Given the description of an element on the screen output the (x, y) to click on. 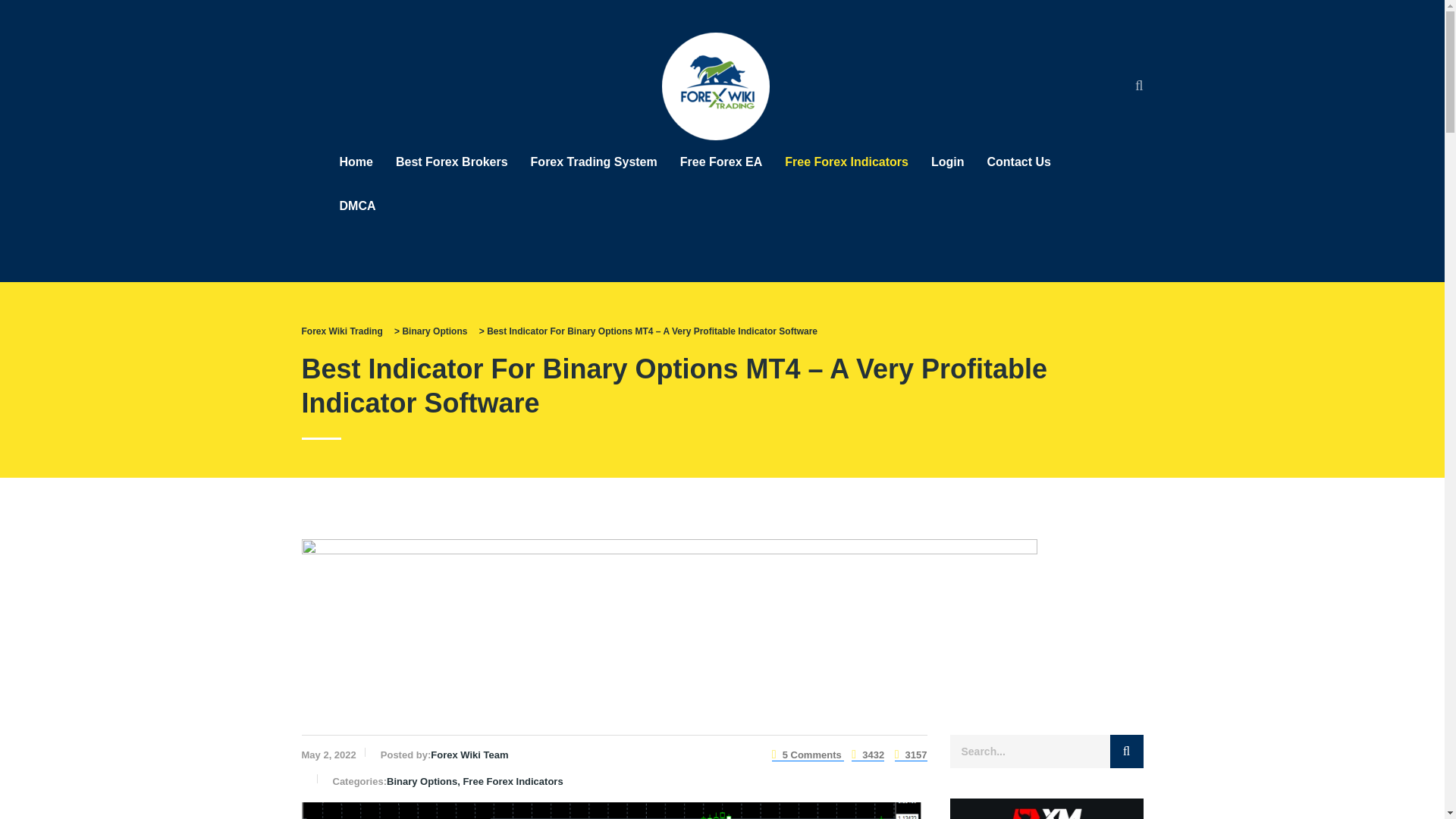
Go to the Binary Options Category archives. (434, 330)
Free Forex Indicators (846, 162)
Go to Forex Wiki Trading. (341, 330)
3157 (911, 755)
Forex Wiki Trading (341, 330)
5 Comments (807, 755)
Binary Options (434, 330)
DMCA (357, 206)
Contact Us (1018, 162)
